Given the description of an element on the screen output the (x, y) to click on. 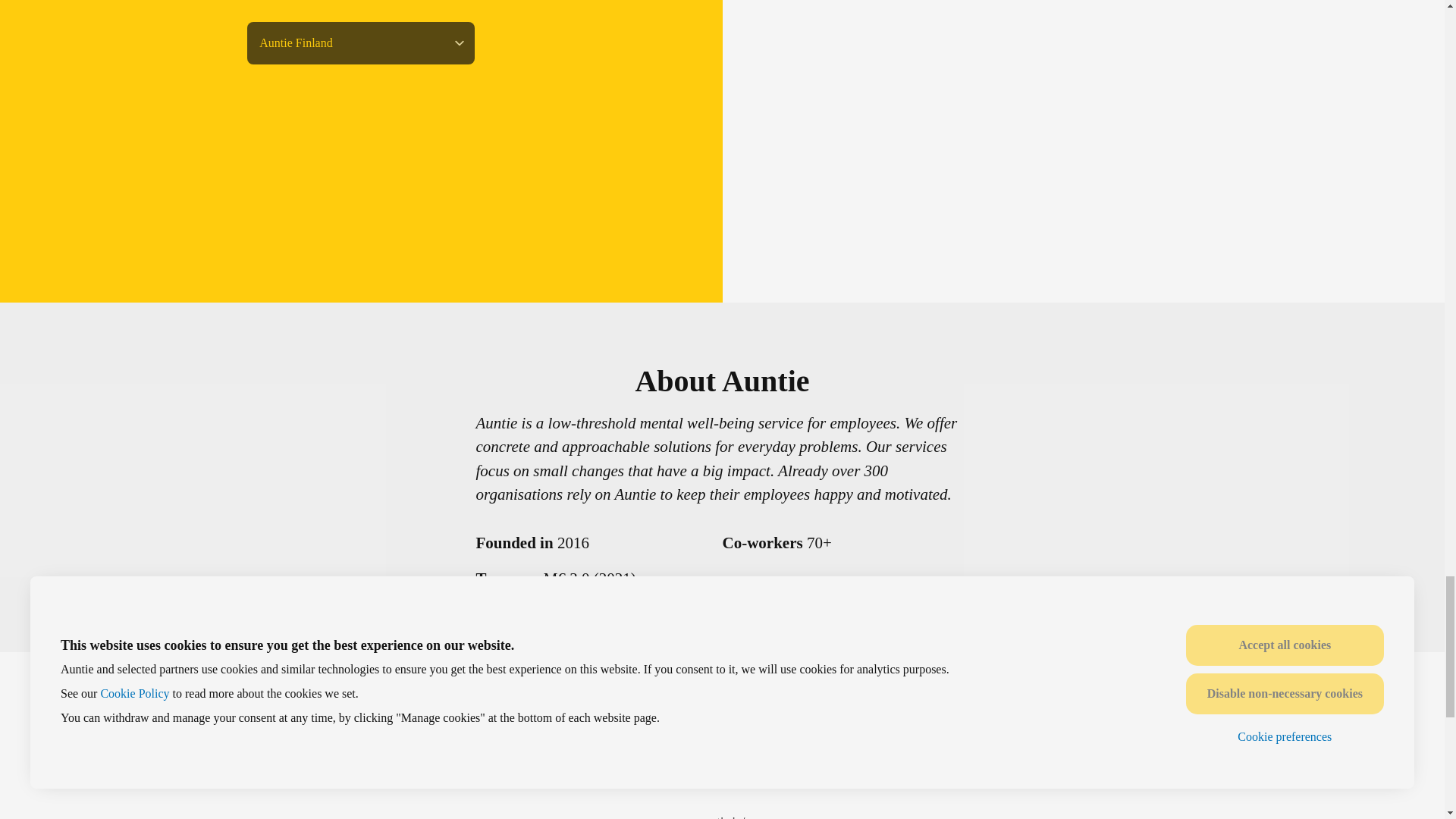
facebook (703, 774)
instagram (776, 774)
x-twitter (667, 774)
linkedin (740, 774)
Jobs (643, 721)
Manage cookies (818, 721)
Select location (360, 43)
Start (598, 721)
